Given the description of an element on the screen output the (x, y) to click on. 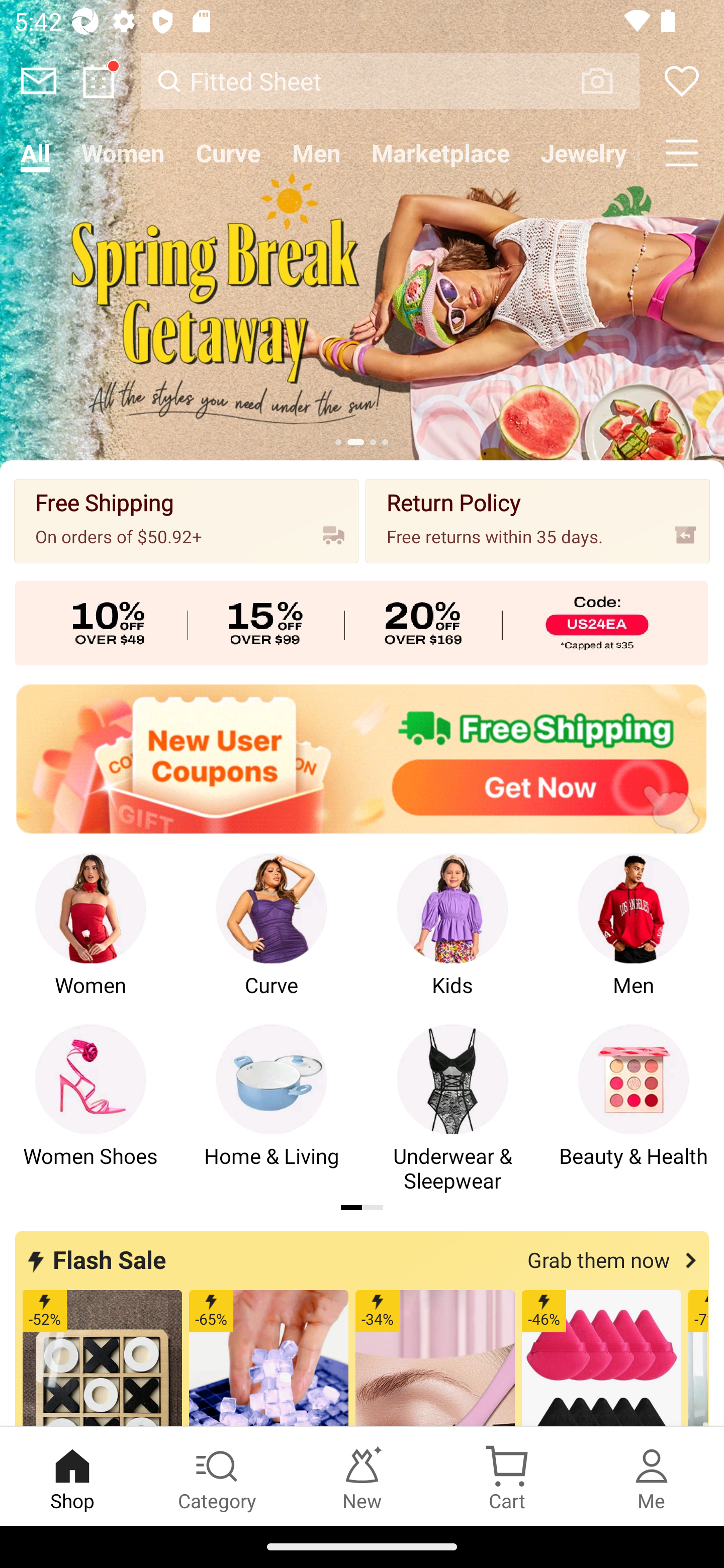
Wishlist (681, 80)
VISUAL SEARCH (607, 81)
All (35, 152)
Women (122, 152)
Curve (228, 152)
Men (316, 152)
Marketplace (440, 152)
Jewelry & Accs (582, 152)
Free Shipping On orders of $50.92+ (185, 520)
Return Policy Free returns within 35 days. (537, 520)
Women (90, 937)
Curve (271, 937)
Kids (452, 937)
Men (633, 937)
Women Shoes (90, 1108)
Home & Living (271, 1108)
Underwear & Sleepwear (452, 1108)
Beauty & Health (633, 1108)
Category (216, 1475)
New (361, 1475)
Cart (506, 1475)
Me (651, 1475)
